Given the description of an element on the screen output the (x, y) to click on. 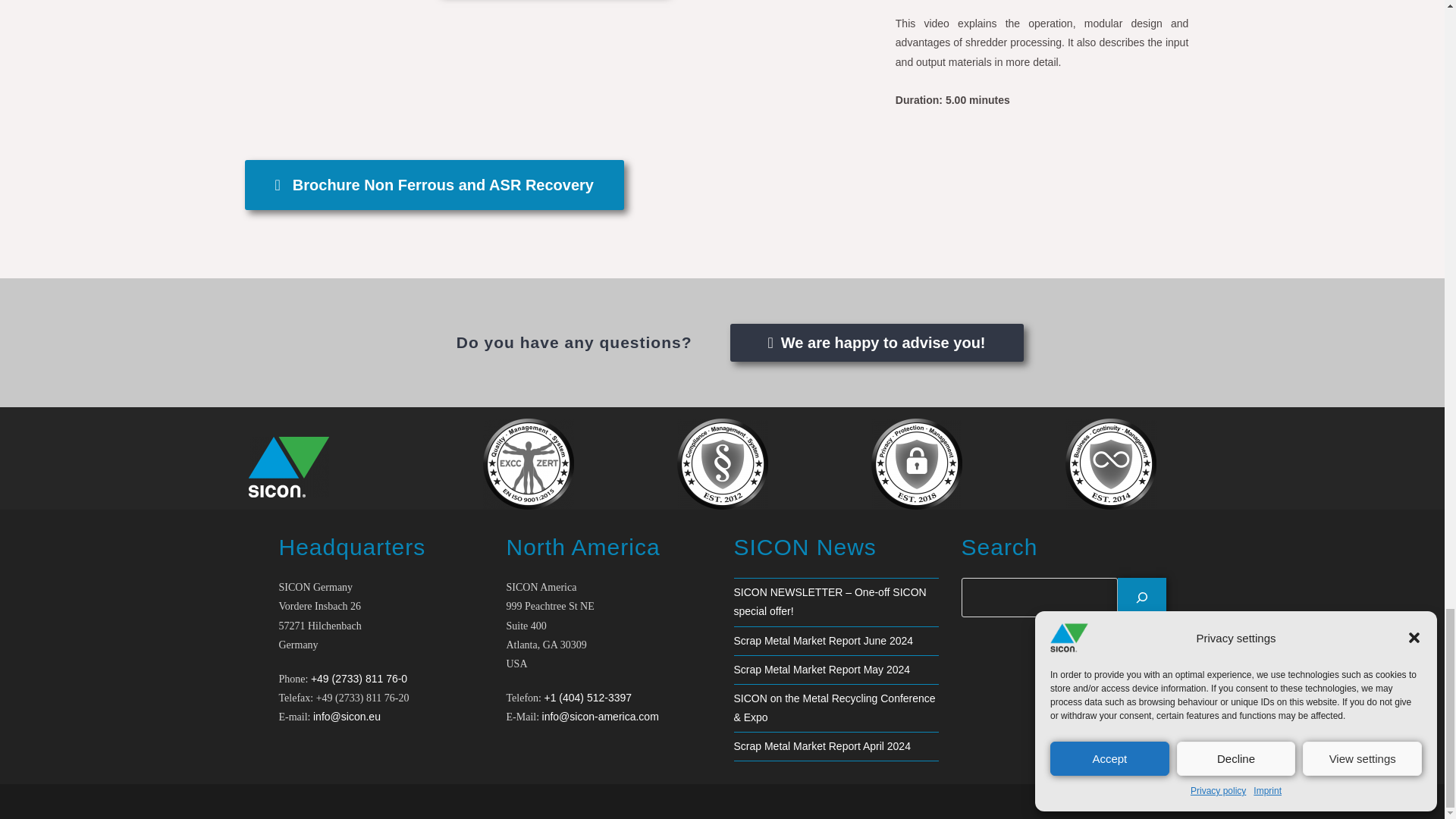
SICON QMS Management (527, 463)
SICON PPM Management (915, 463)
SICON-LOGO-w (288, 466)
SICON CMS Management (722, 463)
SICON BCM Management (1110, 463)
